Given the description of an element on the screen output the (x, y) to click on. 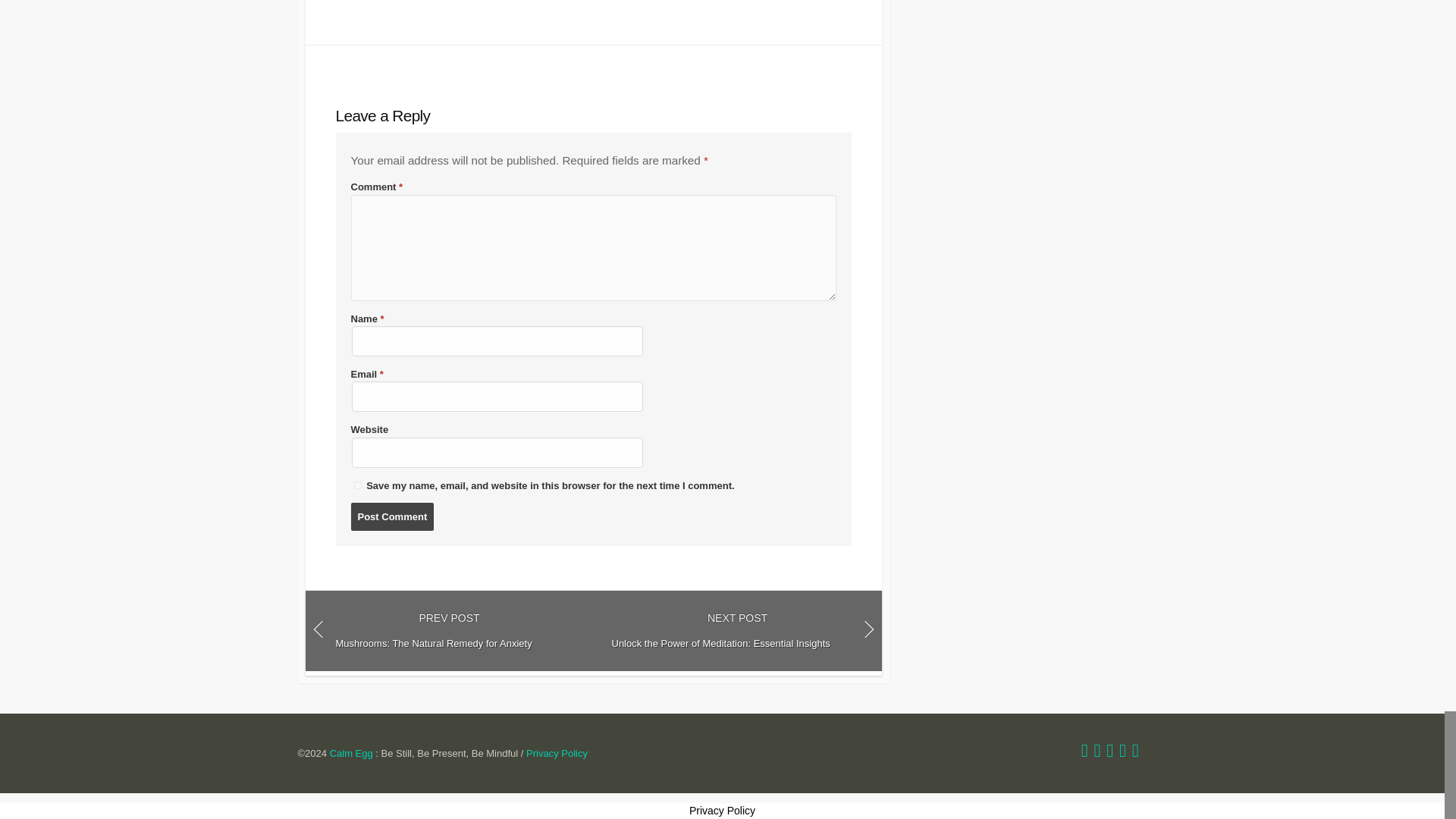
yes (357, 484)
Post Comment (391, 516)
